Given the description of an element on the screen output the (x, y) to click on. 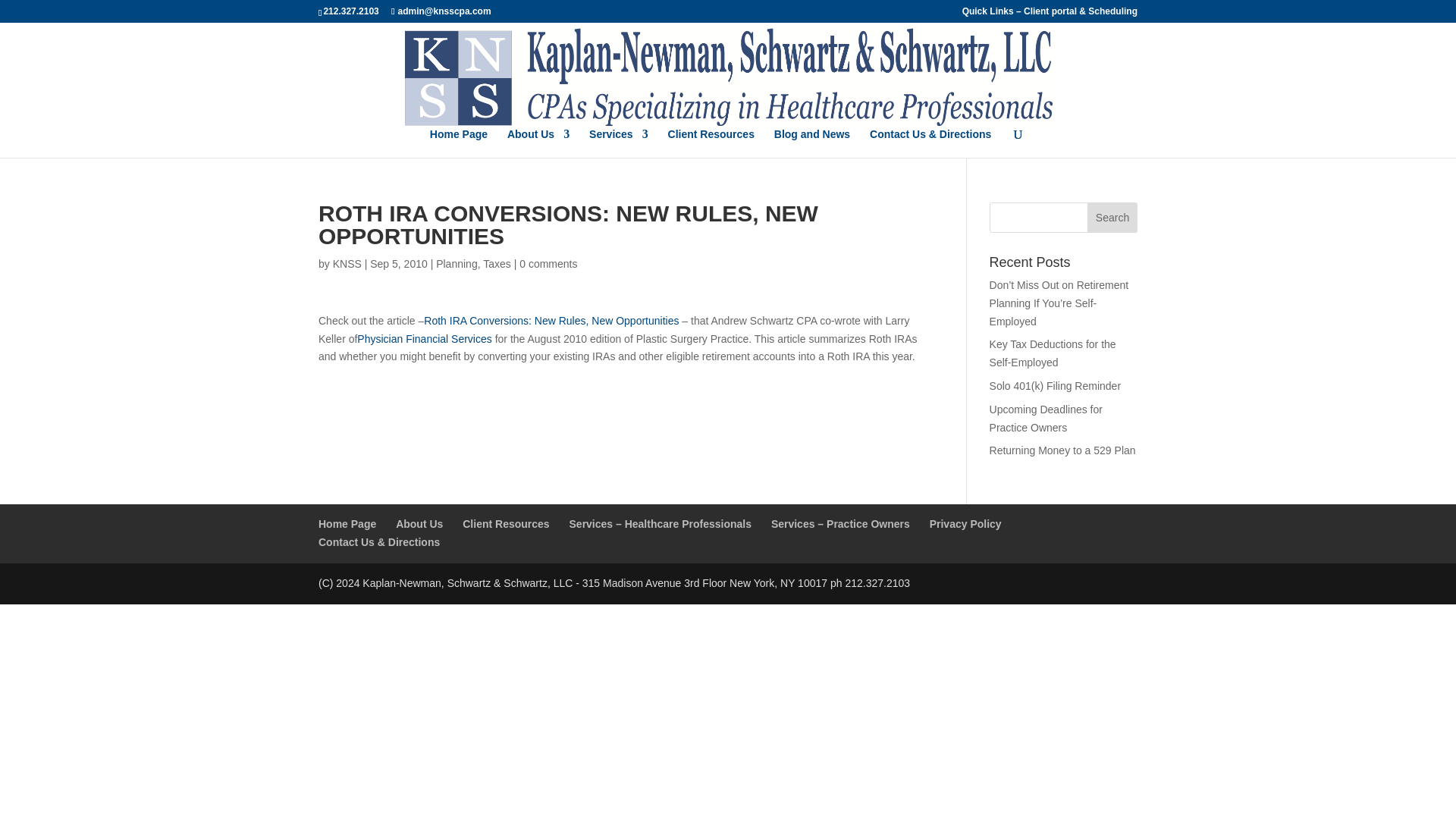
About Us (537, 143)
Key Tax Deductions for the Self-Employed (1053, 353)
About Us (419, 523)
Physician Financial Services (424, 338)
Returning Money to a 529 Plan (1062, 450)
Client Resources (505, 523)
Client Resources (711, 143)
Home Page (458, 143)
KNSS (347, 263)
Home Page (346, 523)
Search (1112, 217)
Blog and News (812, 143)
Privacy Policy (965, 523)
Posts by KNSS (347, 263)
Planning (456, 263)
